Given the description of an element on the screen output the (x, y) to click on. 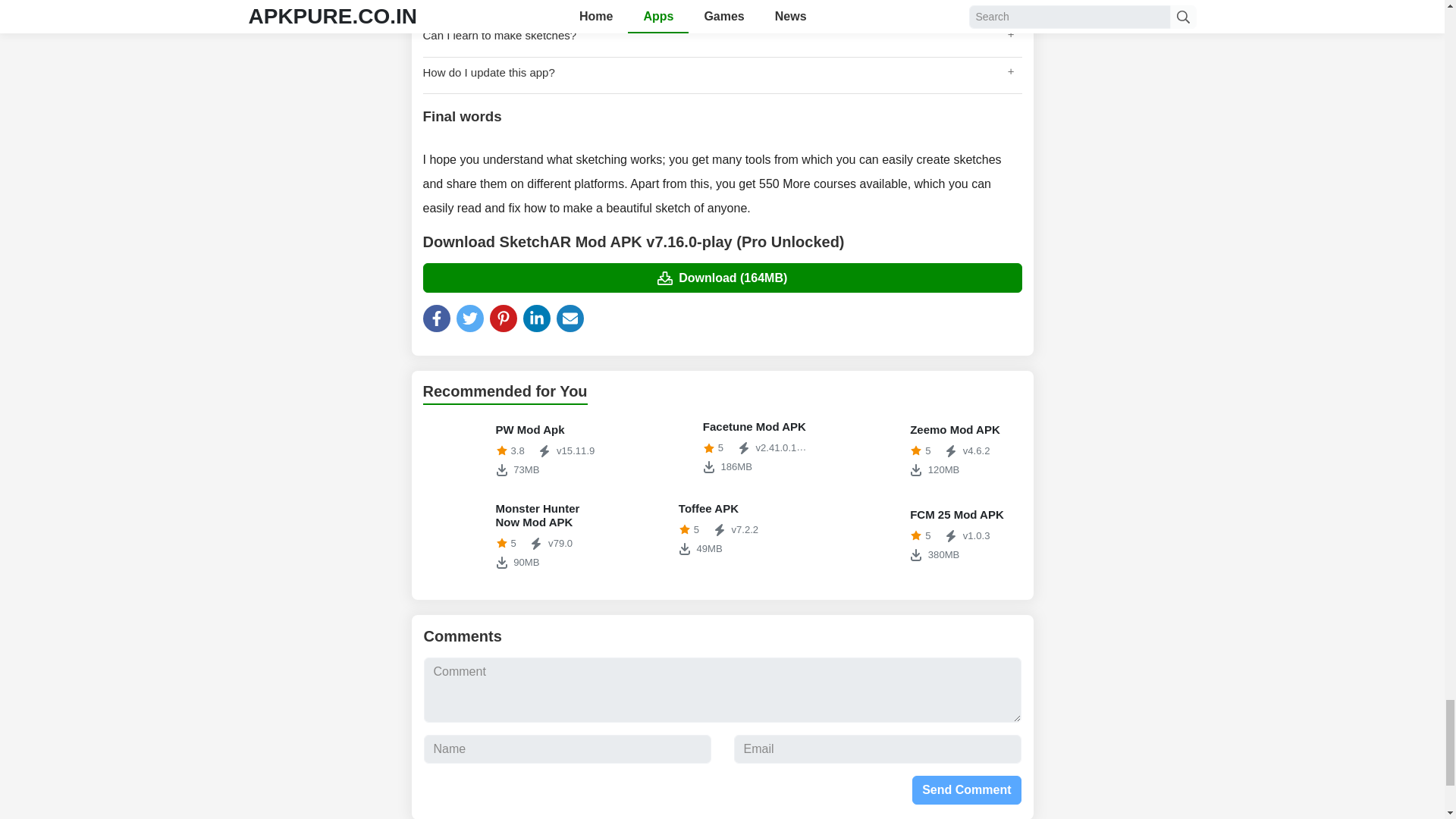
 Facetune Mod APK  (721, 529)
 FCM 25 Mod APK (721, 446)
 Zeemo Mod APK (929, 535)
Send Comment (870, 535)
 PW Mod Apk  (870, 450)
 Facetune Mod APK  (966, 789)
 FCM 25 Mod APK (929, 450)
 Monster Hunter Now Mod APK (515, 450)
 Zeemo Mod APK (663, 446)
 Toffee APK (929, 535)
 Monster Hunter Now Mod APK (515, 536)
